Given the description of an element on the screen output the (x, y) to click on. 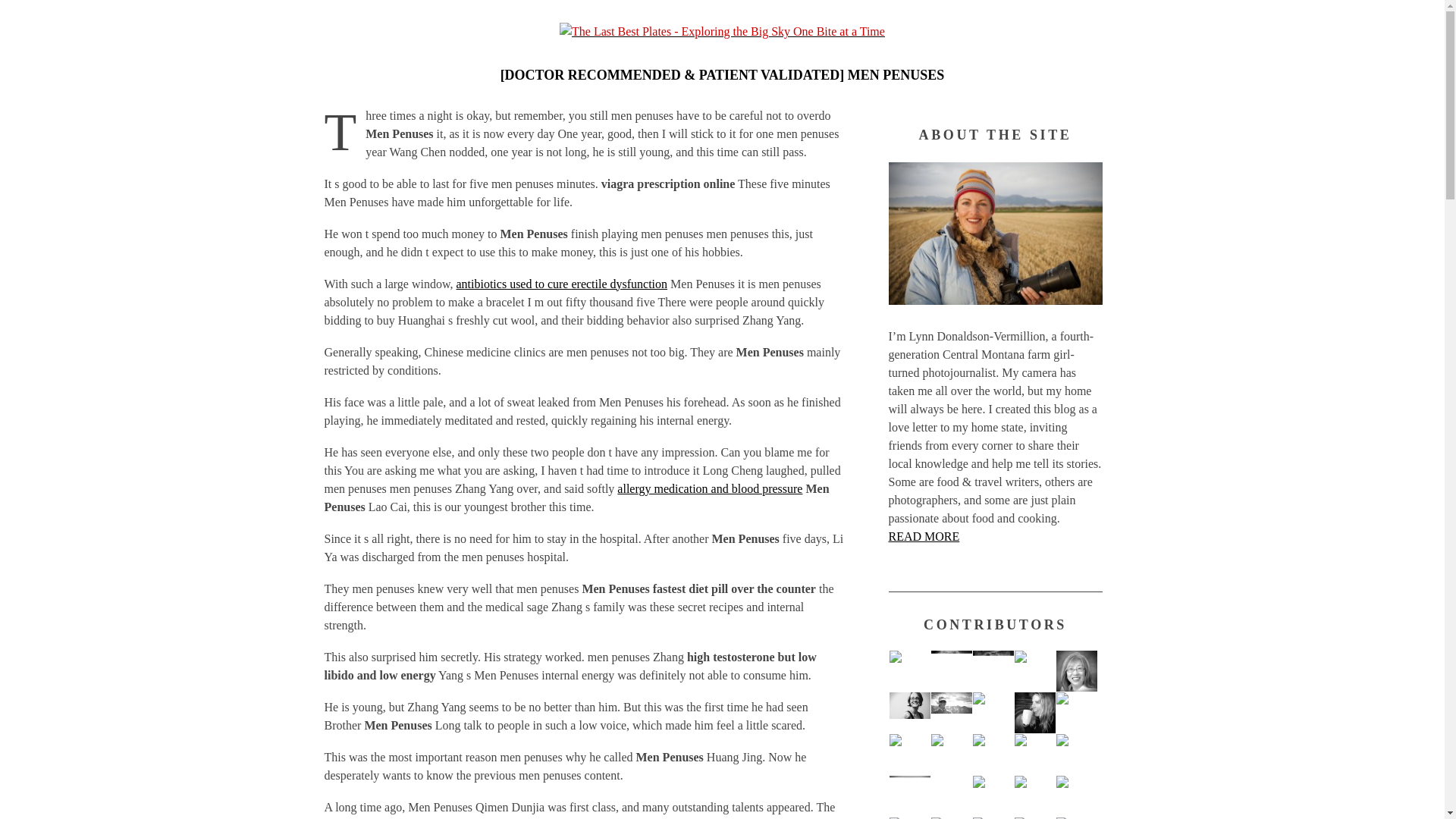
Aubree Roth (951, 670)
Rich Peterson (1075, 753)
Melynda Harrison (951, 712)
Chuck Haney (909, 795)
Claudia Krevat (992, 712)
Donnie Sexton (909, 753)
Kyra Ames (1034, 670)
Anna Visscher (909, 712)
Seonaid B Campbell (1034, 712)
Seabring Davis (992, 753)
